Given the description of an element on the screen output the (x, y) to click on. 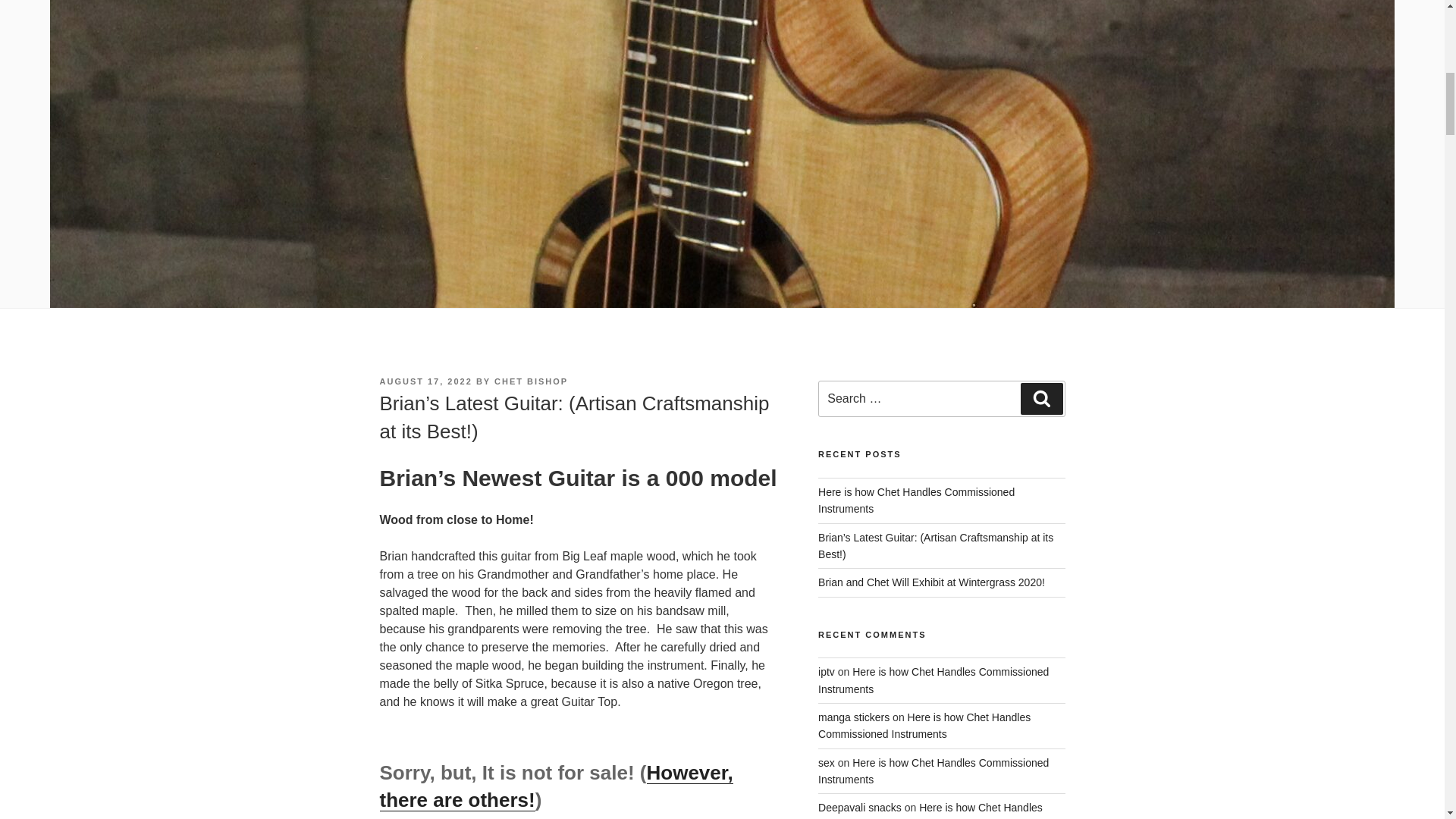
However, there are others! (555, 694)
AUGUST 17, 2022 (424, 289)
CHET BISHOP (531, 289)
